Given the description of an element on the screen output the (x, y) to click on. 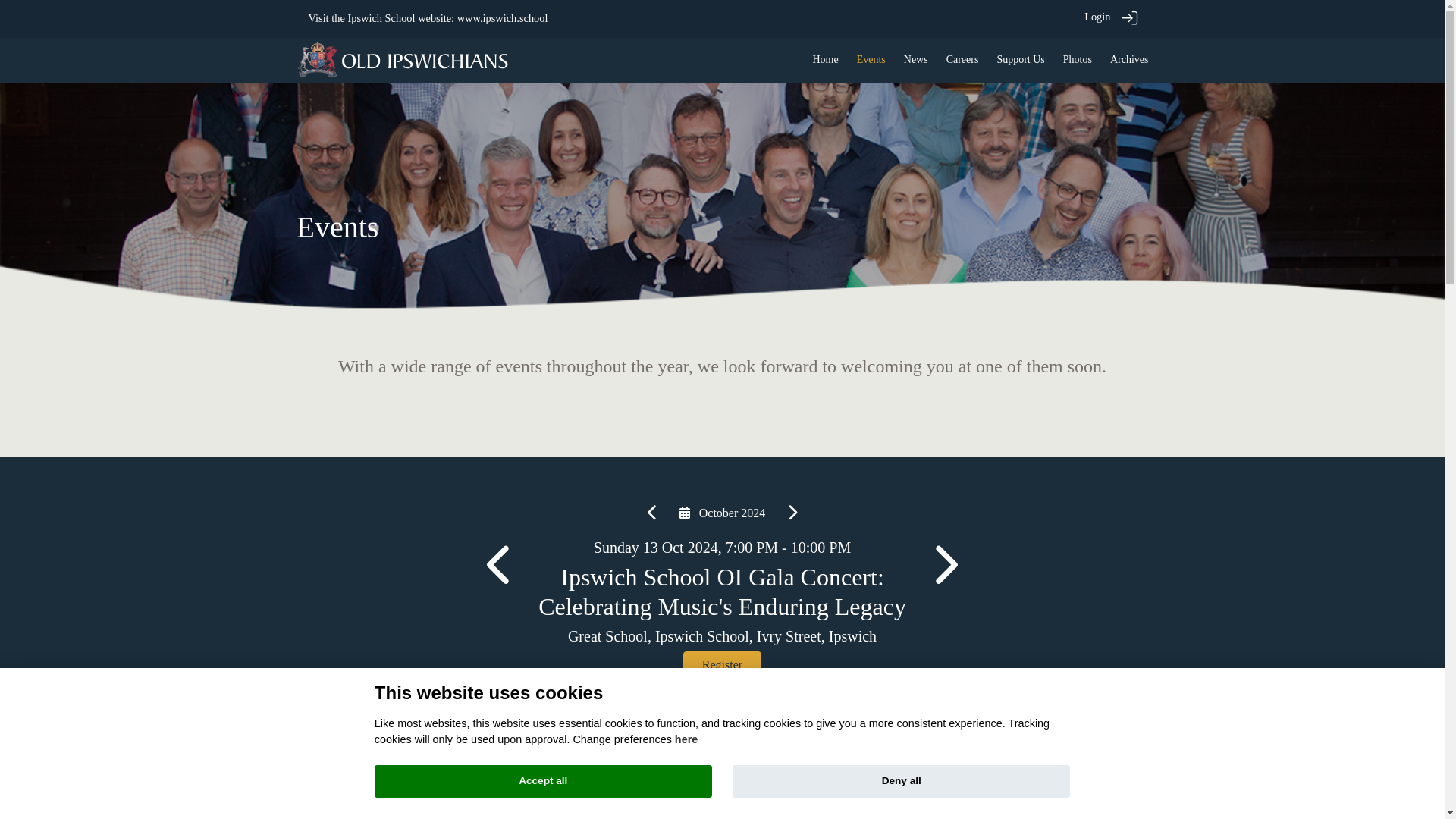
Login (1096, 16)
Home (825, 59)
Register (721, 664)
Photos (1077, 59)
Events (871, 59)
Support Us (1019, 59)
www.ipswich.school (502, 18)
Archives (1128, 59)
Careers (962, 59)
News (916, 59)
